Given the description of an element on the screen output the (x, y) to click on. 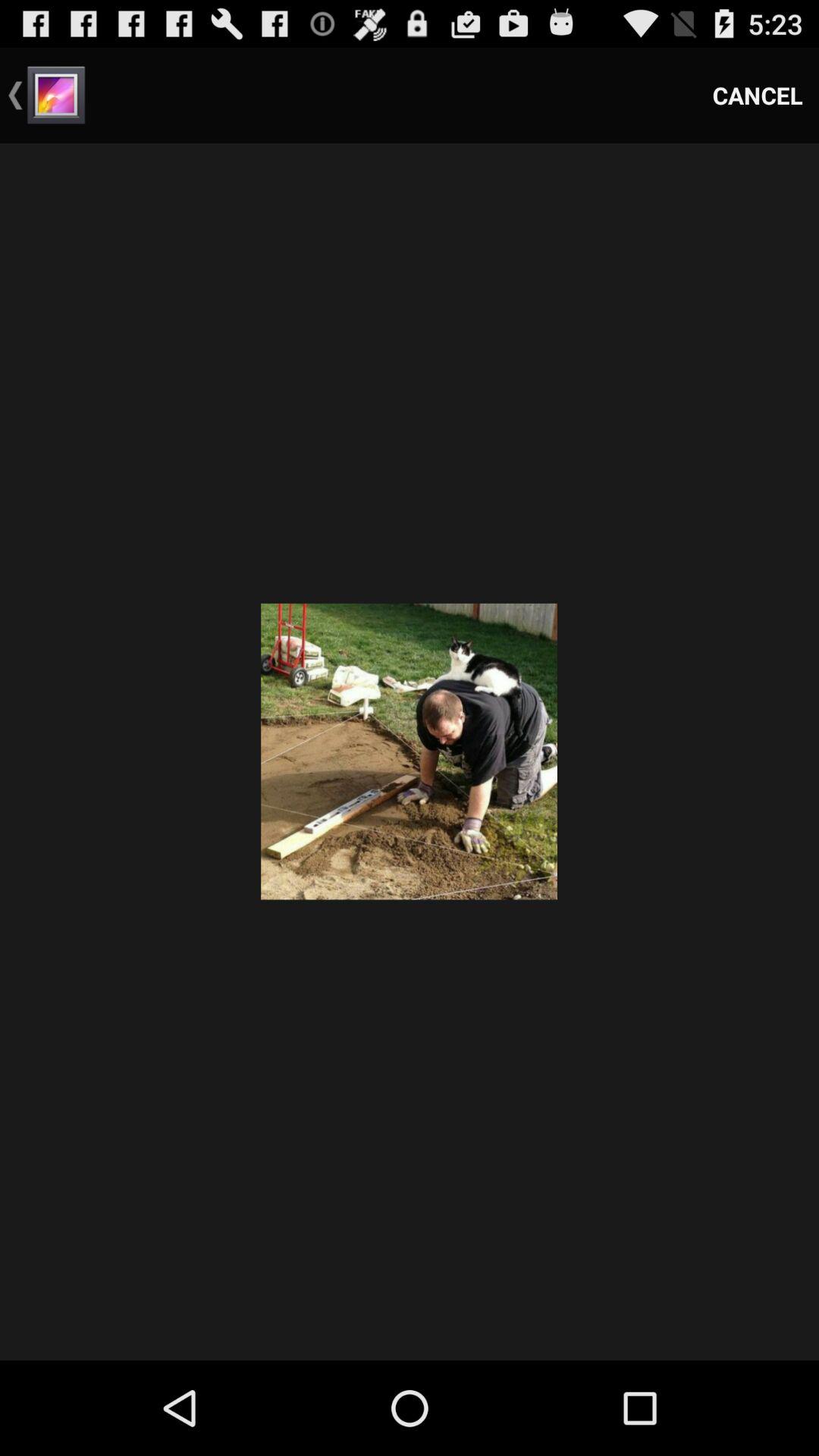
launch the cancel at the top right corner (757, 95)
